Given the description of an element on the screen output the (x, y) to click on. 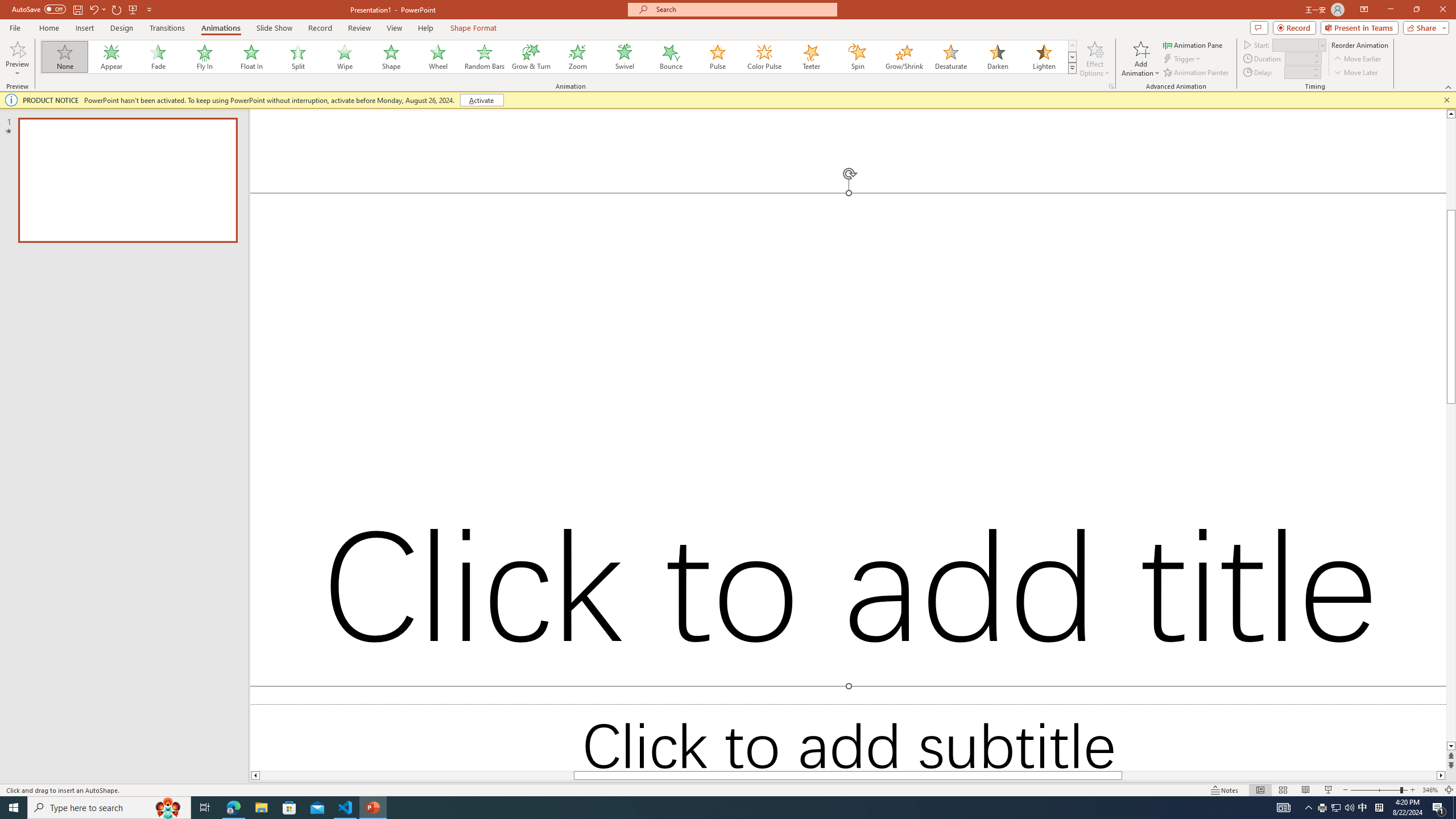
Desaturate (950, 56)
Move Earlier (1357, 58)
Effect Options (1094, 58)
Animation Delay (1297, 72)
Activate (481, 100)
Darken (997, 56)
